Given the description of an element on the screen output the (x, y) to click on. 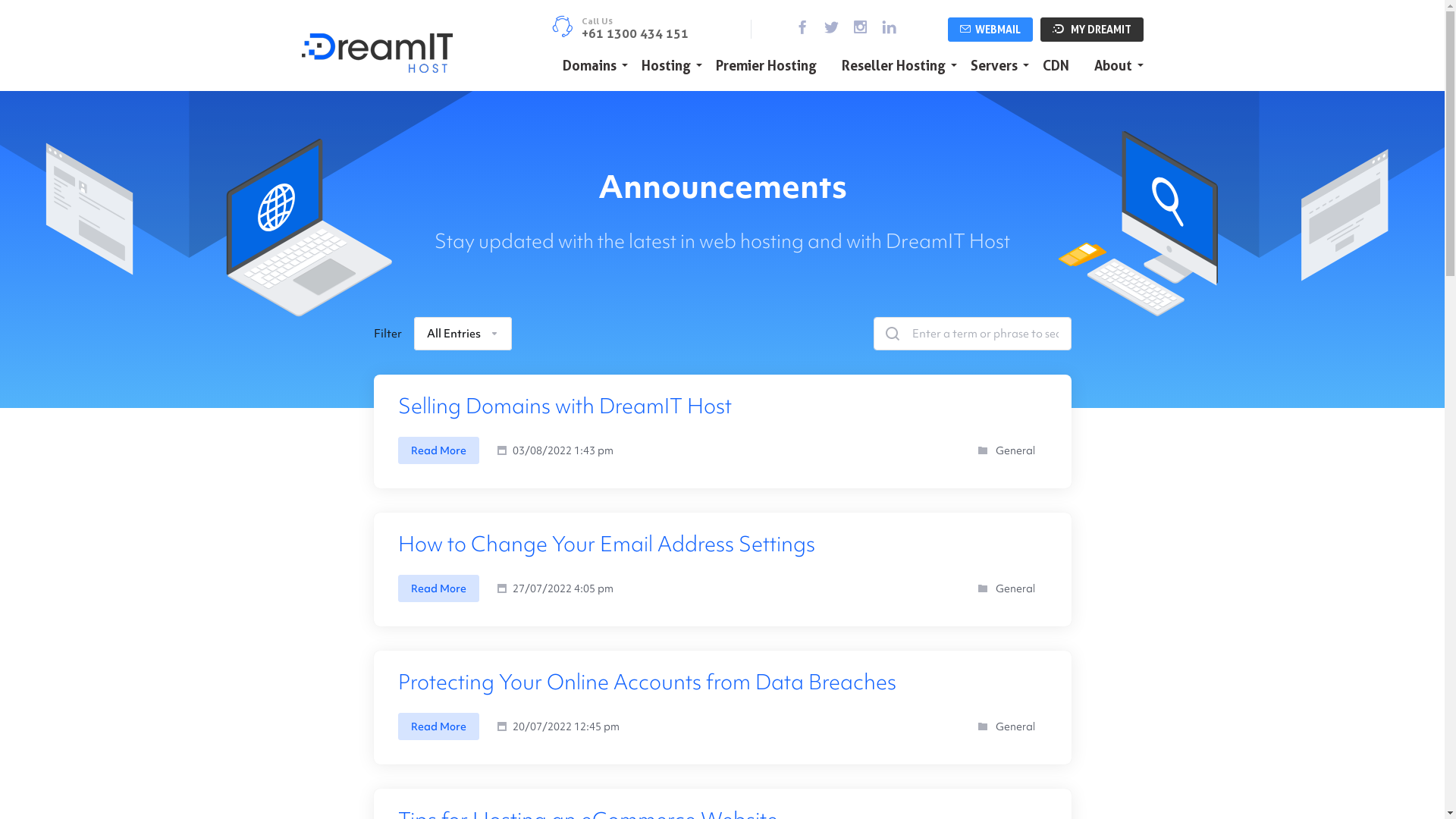
General Element type: text (1014, 725)
MY DREAMIT Element type: text (1091, 28)
General Element type: text (1014, 449)
Premier Hosting Element type: text (765, 67)
All Entries Element type: text (462, 333)
WEBMAIL Element type: text (989, 28)
Call Us
+61 1300 434 151 Element type: text (618, 27)
Reseller Hosting Element type: text (892, 67)
About Element type: text (1112, 67)
General Element type: text (1014, 587)
Servers Element type: text (993, 67)
Domains Element type: text (588, 67)
CDN Element type: text (1055, 67)
Hosting Element type: text (665, 67)
